Given the description of an element on the screen output the (x, y) to click on. 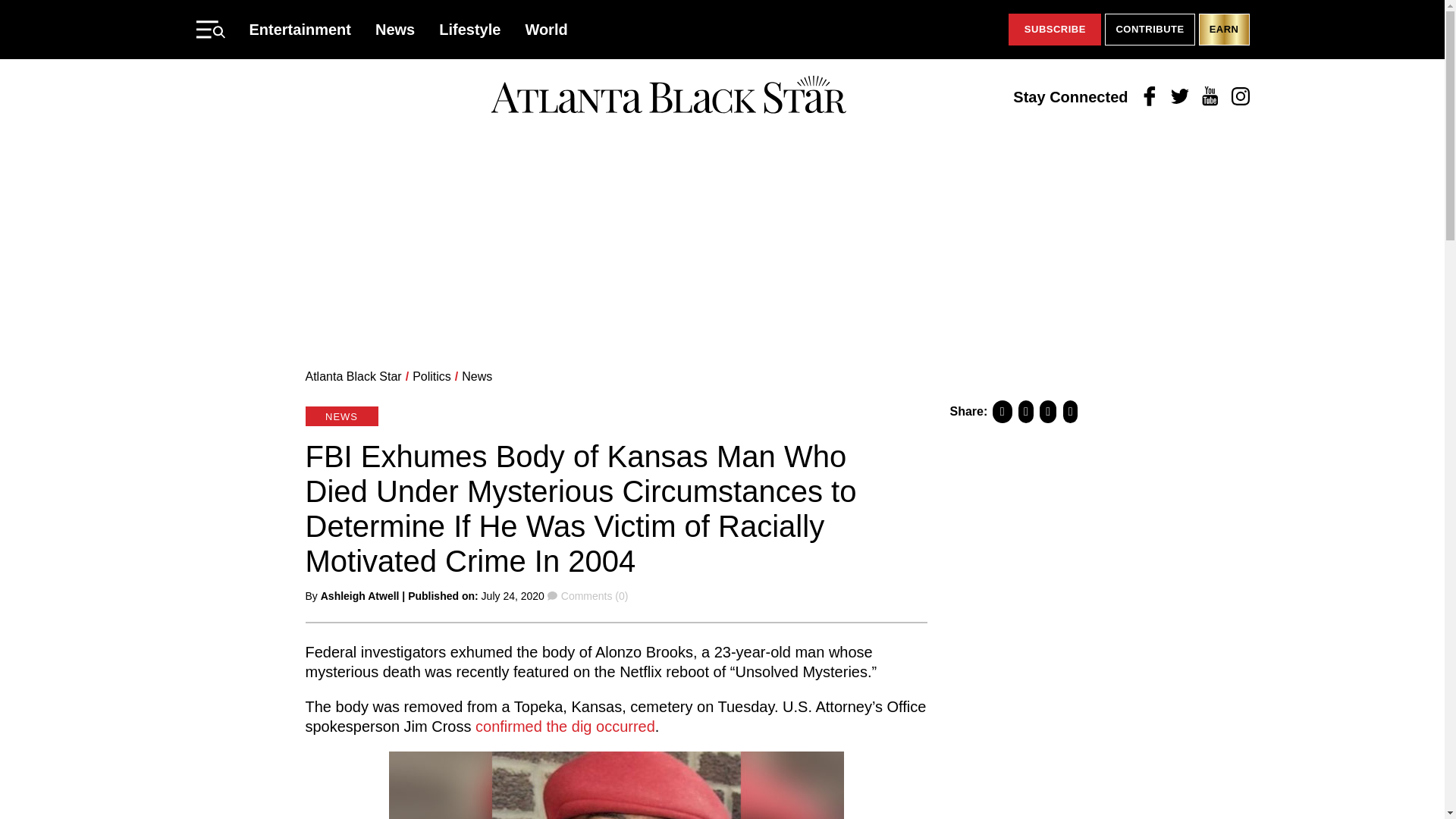
Go to the News Category archives. (476, 376)
SUBSCRIBE (1054, 29)
Politics (431, 376)
Atlanta Black Star (667, 96)
CONTRIBUTE (1149, 29)
Go to Atlanta Black Star. (352, 376)
Atlanta Black Star (352, 376)
World (545, 29)
Go to the Politics Category archives. (431, 376)
EARN (1223, 29)
